Given the description of an element on the screen output the (x, y) to click on. 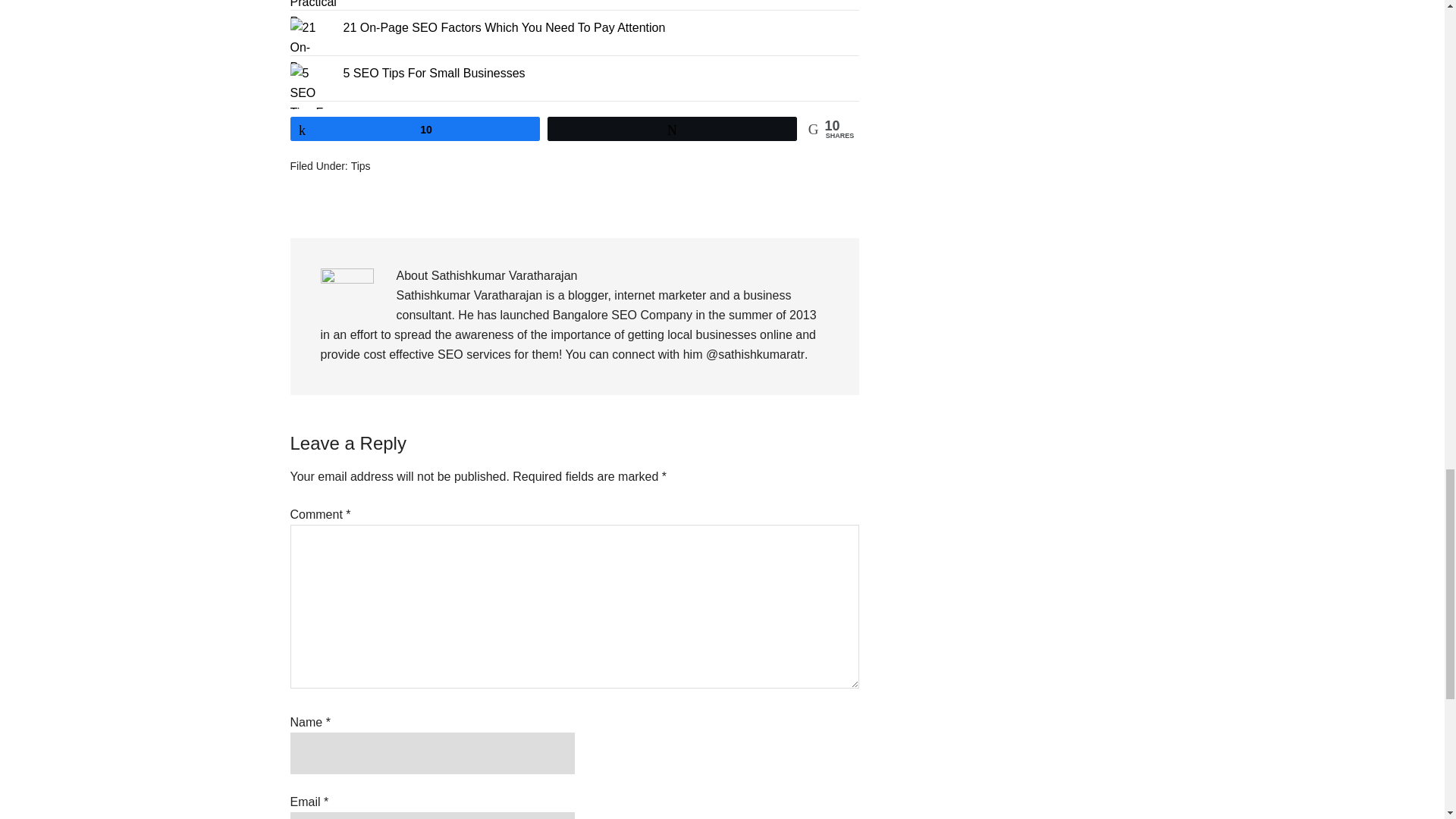
10 (414, 128)
5 SEO Tips For Small Businesses (433, 72)
21 On-Page SEO Factors Which You Need To Pay Attention (503, 27)
Tips (360, 165)
